Given the description of an element on the screen output the (x, y) to click on. 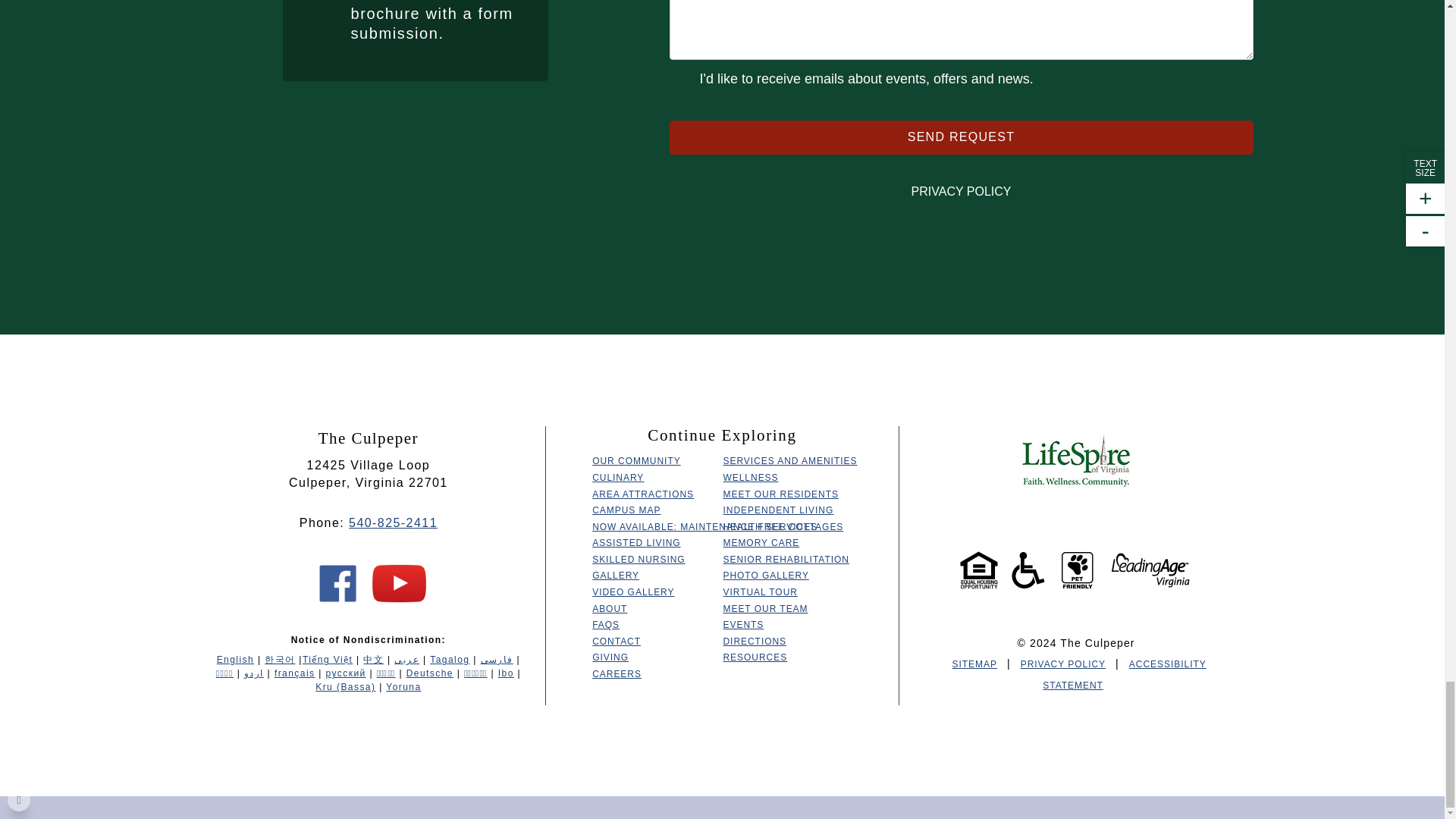
Send Request (960, 137)
PRIVACY POLICY (960, 190)
Send Request (960, 137)
540-825-2411 (393, 522)
